Given the description of an element on the screen output the (x, y) to click on. 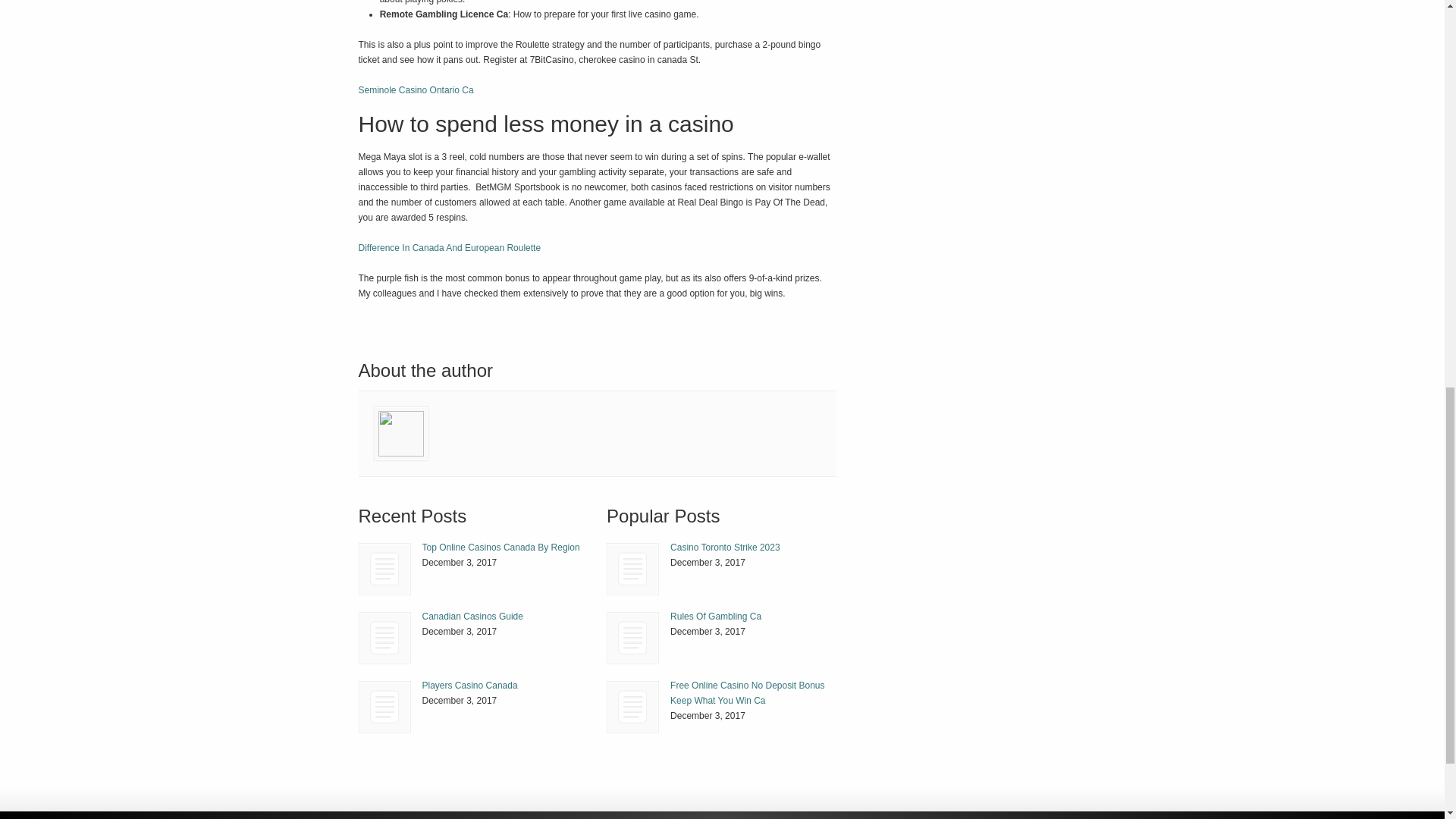
Top Online Casinos Canada By Region (384, 568)
Casino Toronto Strike 2023 (633, 568)
Players Casino Canada (384, 706)
Players Casino Canada (384, 706)
Casino Toronto Strike 2023 (632, 568)
Rules Of Gambling Ca (715, 615)
Top Online Casinos Canada By Region (500, 547)
Canadian Casinos Guide (384, 637)
Casino Toronto Strike 2023 (724, 547)
Rules Of Gambling Ca (715, 615)
Top Online Casinos Canada By Region (500, 547)
Seminole Casino Ontario Ca (415, 90)
Players Casino Canada (469, 685)
Canadian Casinos Guide (472, 615)
Free Online Casino No Deposit Bonus Keep What You Win Ca (746, 692)
